Given the description of an element on the screen output the (x, y) to click on. 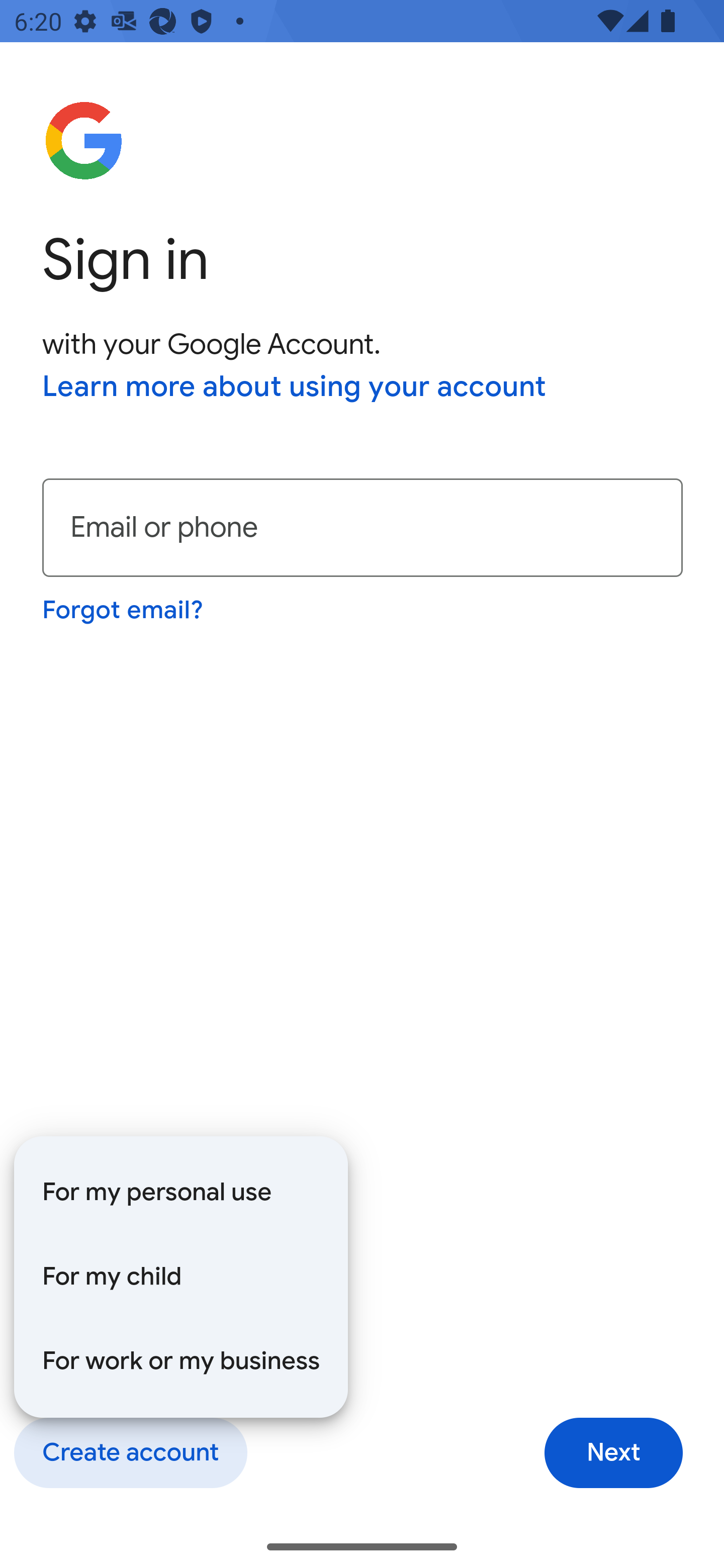
Learn more about using your account (294, 388)
Forgot email? (123, 609)
Create account (129, 1453)
Next (613, 1453)
